Given the description of an element on the screen output the (x, y) to click on. 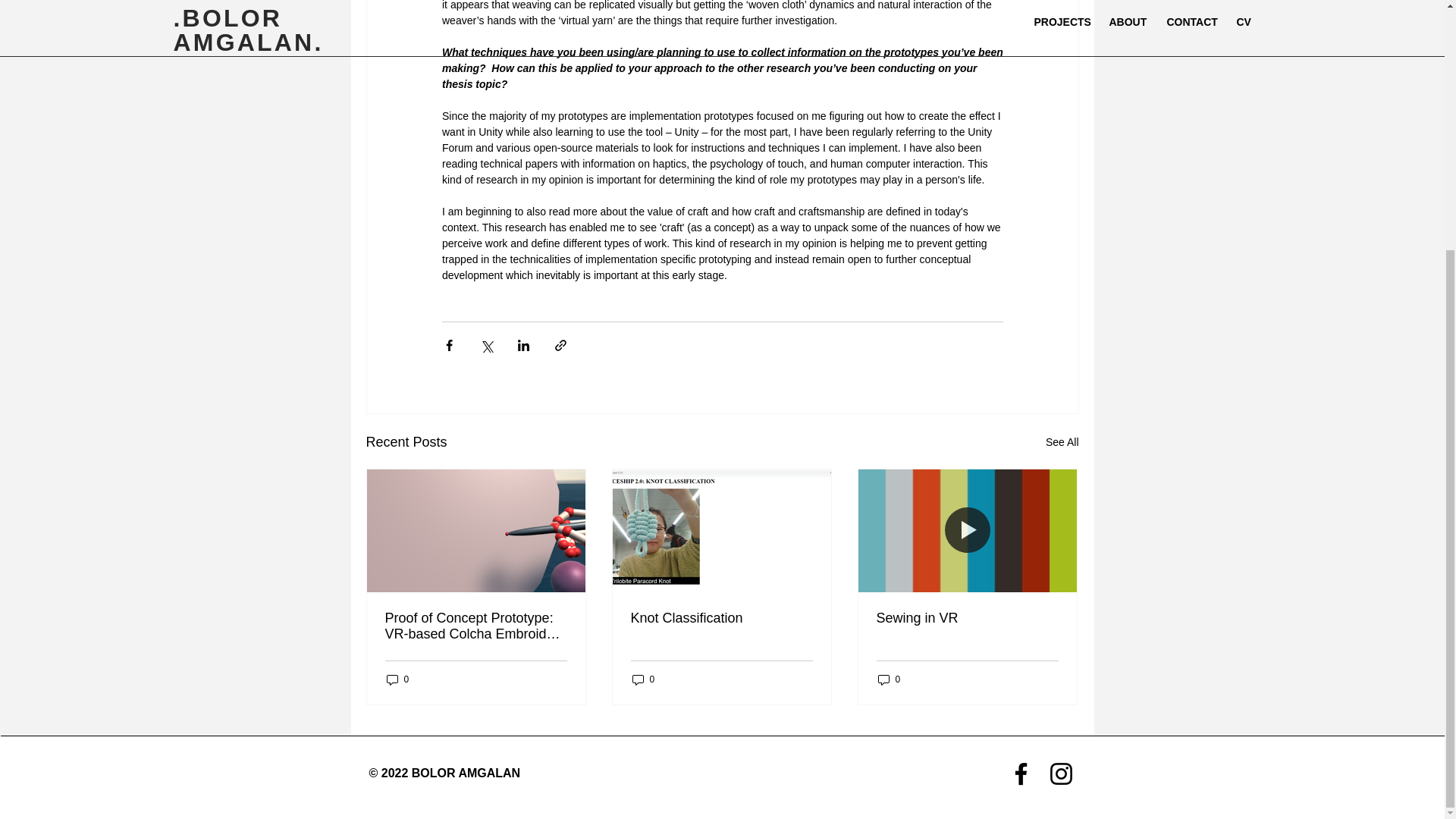
0 (889, 679)
Sewing in VR (967, 618)
See All (1061, 442)
0 (397, 679)
0 (643, 679)
Knot Classification (721, 618)
